Given the description of an element on the screen output the (x, y) to click on. 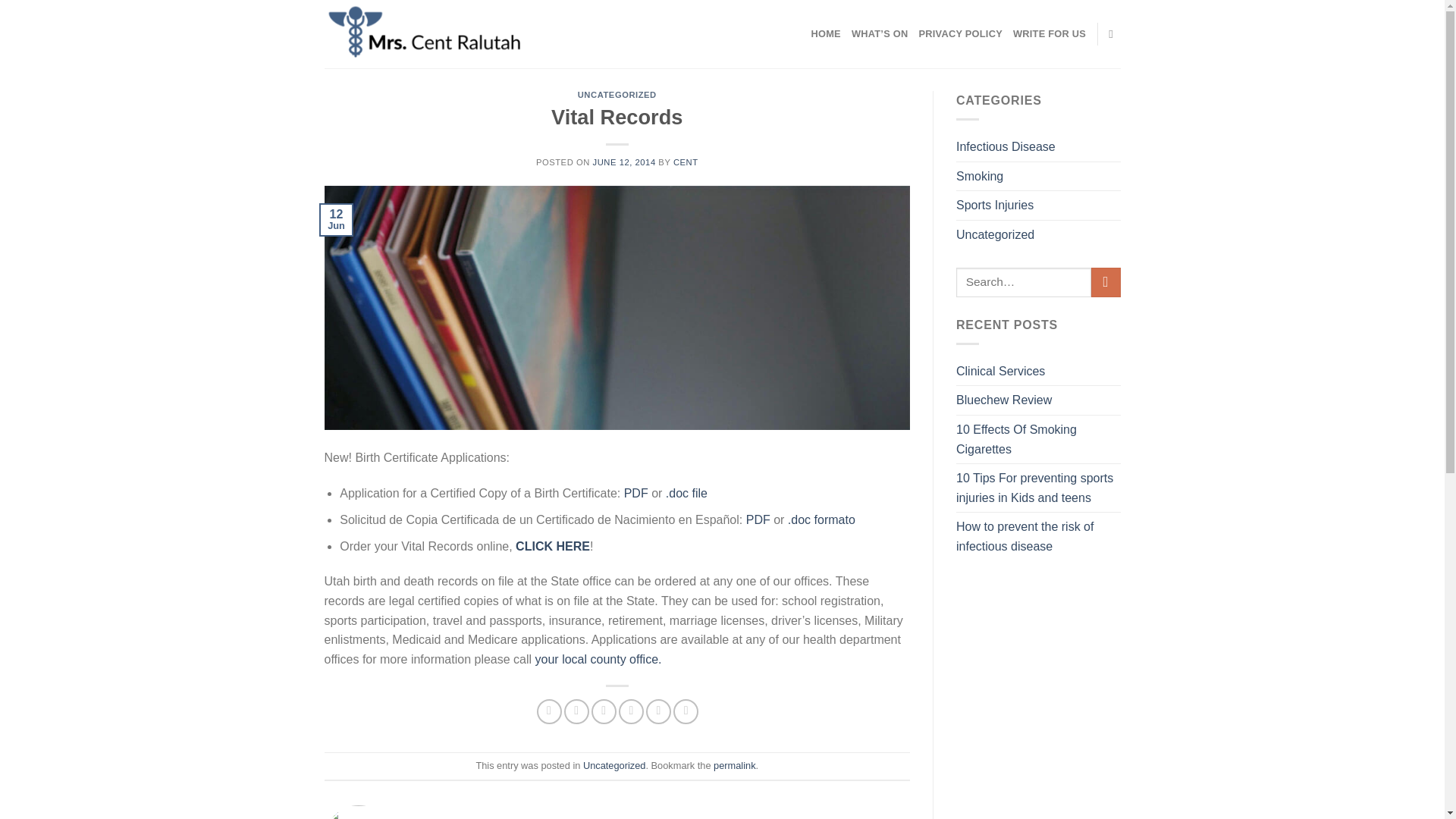
HOME (825, 33)
your local county office. (598, 658)
CLICK HERE (552, 545)
Email to a Friend (603, 711)
Share on Twitter (576, 711)
permalink (734, 765)
.doc file (686, 492)
CENT (685, 162)
PDF (757, 519)
PRIVACY POLICY (959, 33)
Clinical Services (1000, 371)
PDF (635, 492)
Bluechew Review (1003, 399)
Smoking (979, 176)
Uncategorized (614, 765)
